Given the description of an element on the screen output the (x, y) to click on. 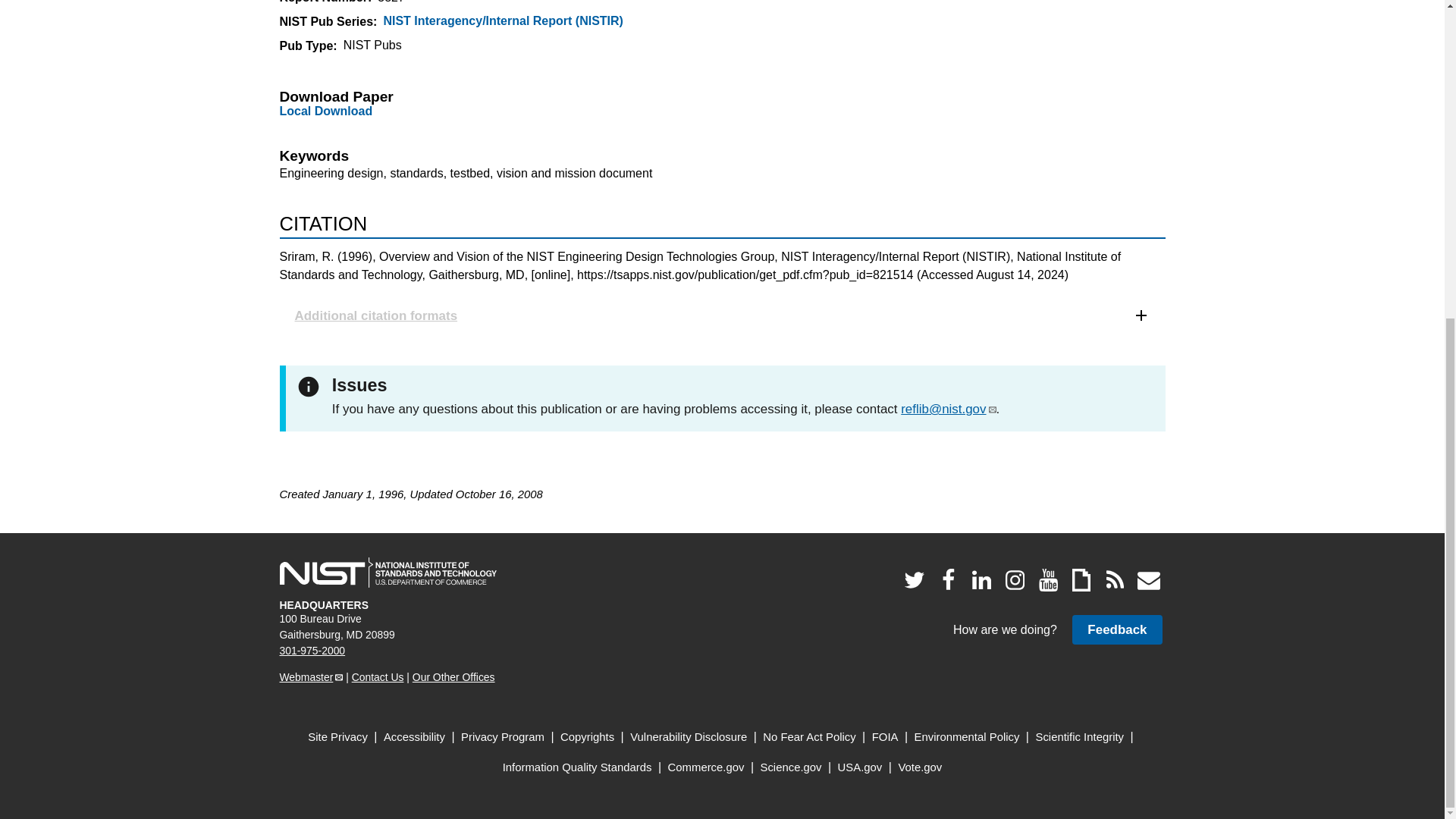
Webmaster (310, 676)
Local Download (325, 110)
Vulnerability Disclosure (688, 736)
Additional citation formats (721, 315)
Accessibility (414, 736)
FOIA (885, 736)
Environmental Policy (967, 736)
Contact Us (378, 676)
Privacy Program (502, 736)
Copyrights (587, 736)
